Given the description of an element on the screen output the (x, y) to click on. 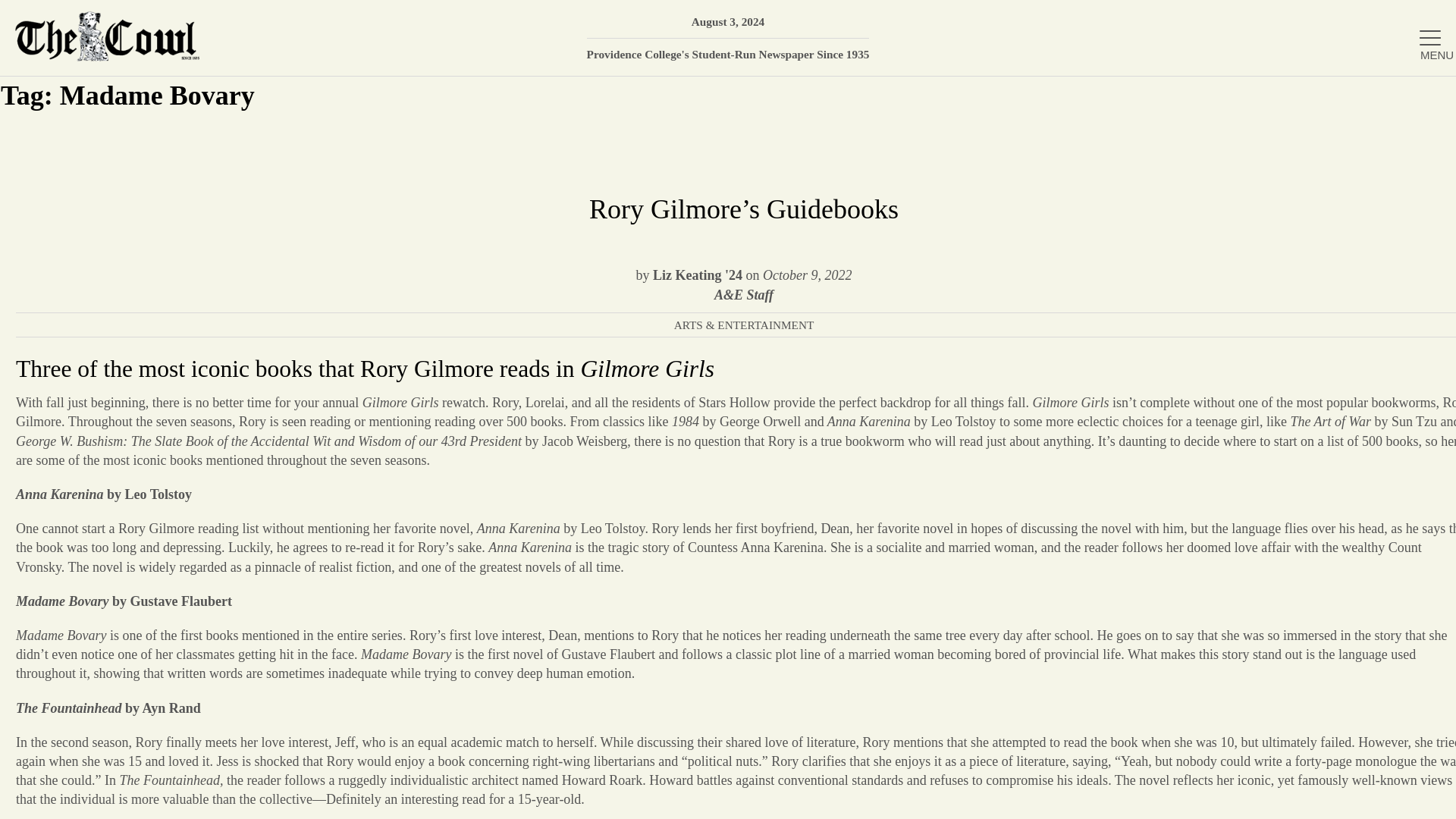
News (1275, 251)
Letters to the Editor (1275, 497)
Home (1275, 152)
Opinion (1275, 349)
Portfolio (1275, 399)
About Us (1275, 201)
Search (1422, 96)
Search (1422, 96)
Sports (1275, 448)
Search (1422, 96)
